Given the description of an element on the screen output the (x, y) to click on. 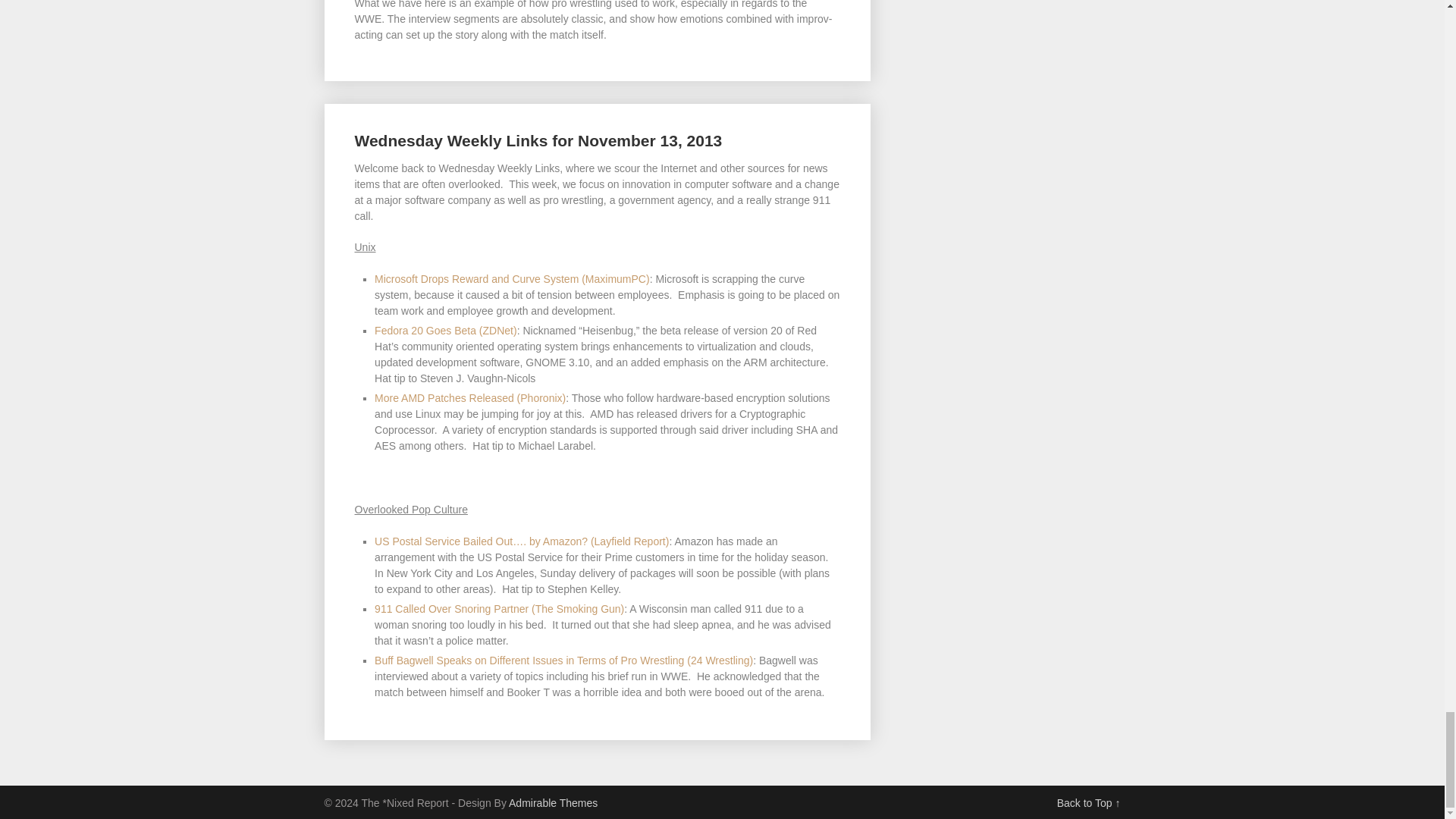
If it's detrimental to grades in school, one would think.... (511, 278)
Wednesday Weekly Links for November 13, 2013 (538, 140)
